Given the description of an element on the screen output the (x, y) to click on. 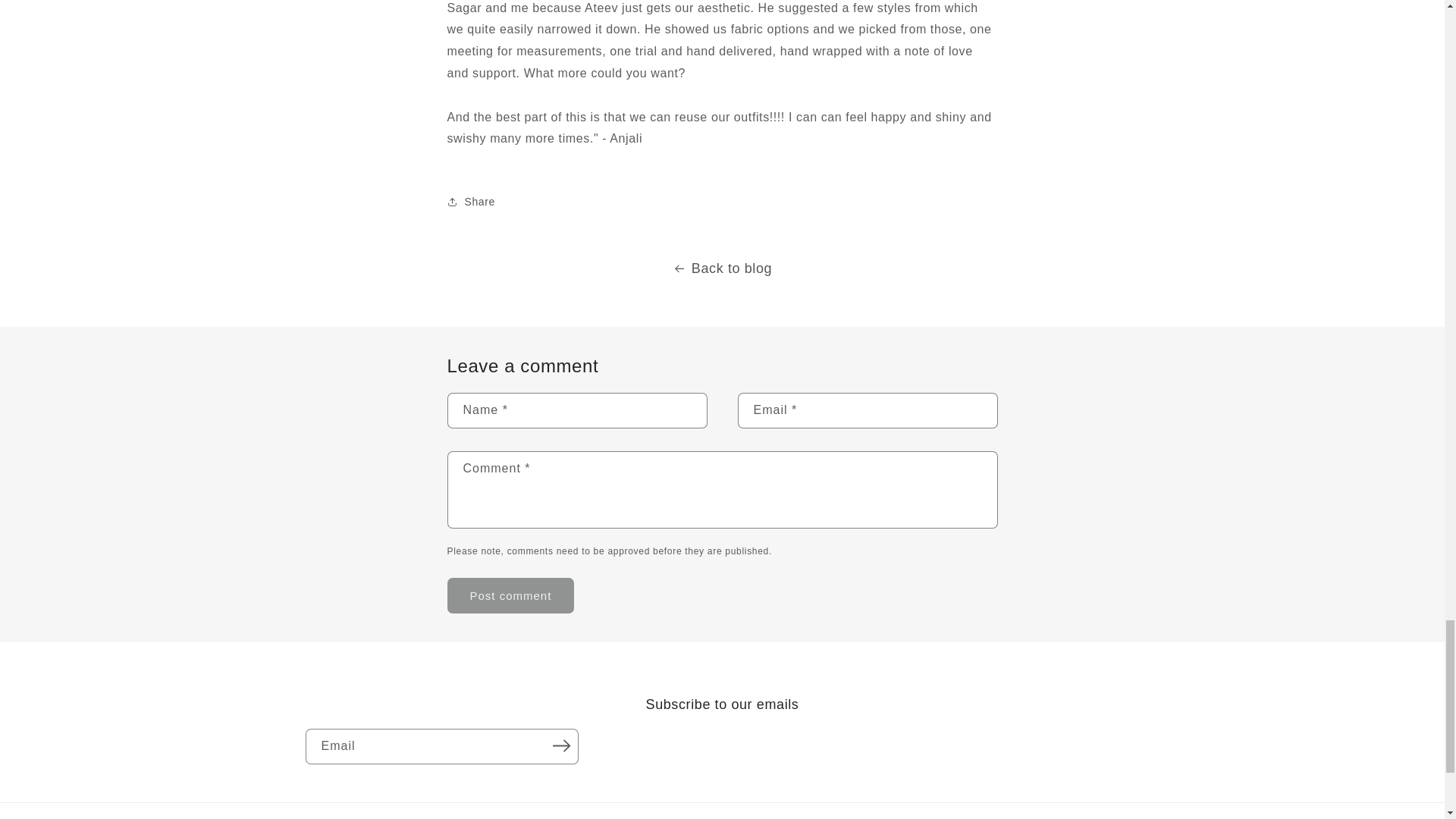
Post comment (510, 595)
Post comment (510, 595)
